Given the description of an element on the screen output the (x, y) to click on. 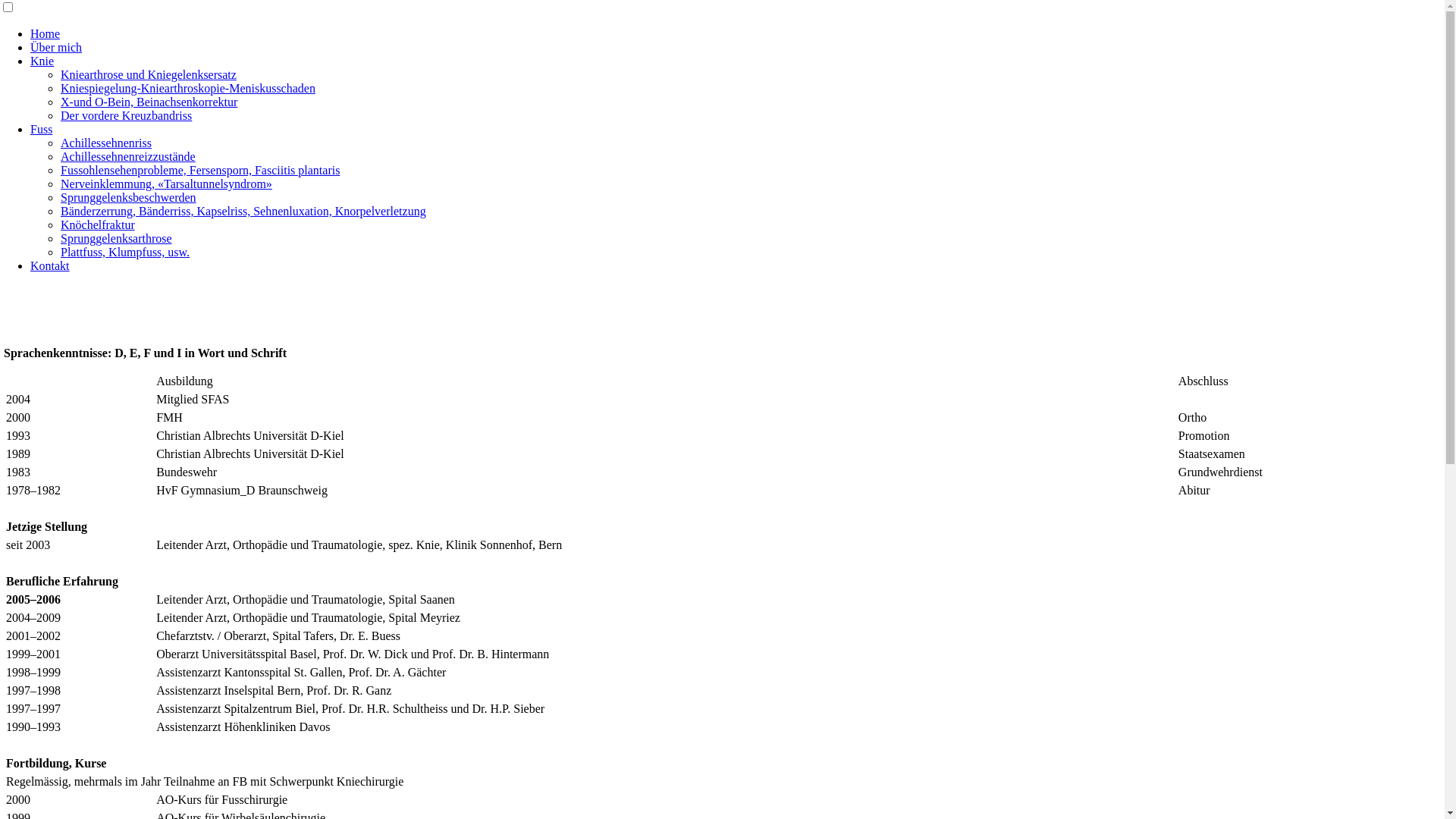
X-und O-Bein, Beinachsenkorrektur Element type: text (148, 101)
Home Element type: text (44, 33)
Sprunggelenksarthrose Element type: text (116, 238)
Plattfuss, Klumpfuss, usw. Element type: text (124, 251)
Achillessehnenriss Element type: text (105, 142)
Der vordere Kreuzbandriss Element type: text (125, 115)
Fussohlensehenprobleme, Fersensporn, Fasciitis plantaris Element type: text (199, 169)
Kniearthrose und Kniegelenksersatz Element type: text (148, 74)
Kniespiegelung-Kniearthroskopie-Meniskusschaden Element type: text (187, 87)
Sprunggelenksbeschwerden Element type: text (128, 197)
Kontakt Element type: text (49, 265)
Fuss Element type: text (41, 128)
Knie Element type: text (41, 60)
